Given the description of an element on the screen output the (x, y) to click on. 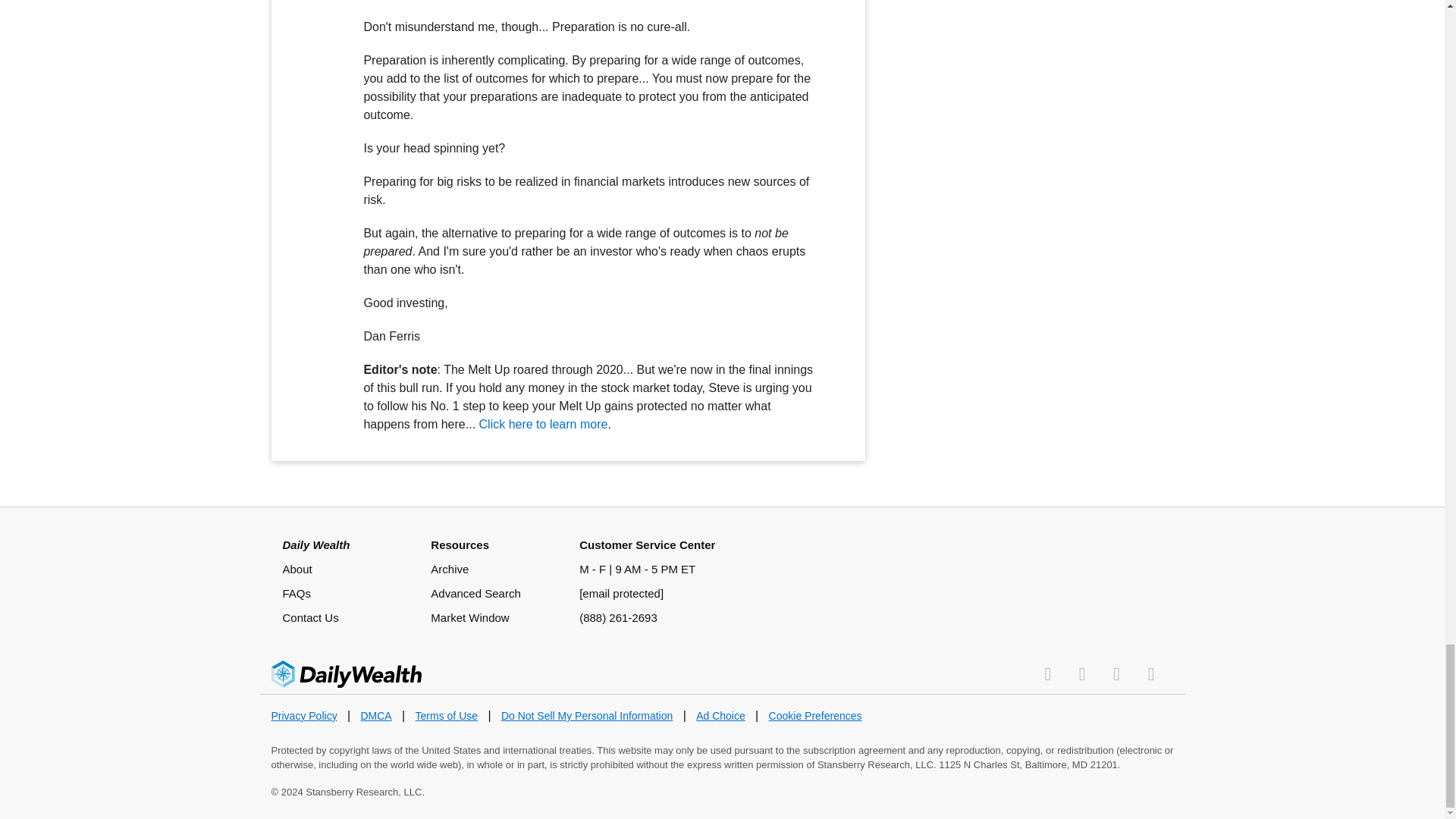
Contact Us (309, 617)
FAQs (296, 593)
About (296, 568)
Click here to learn more (543, 423)
Archive (449, 568)
